Given the description of an element on the screen output the (x, y) to click on. 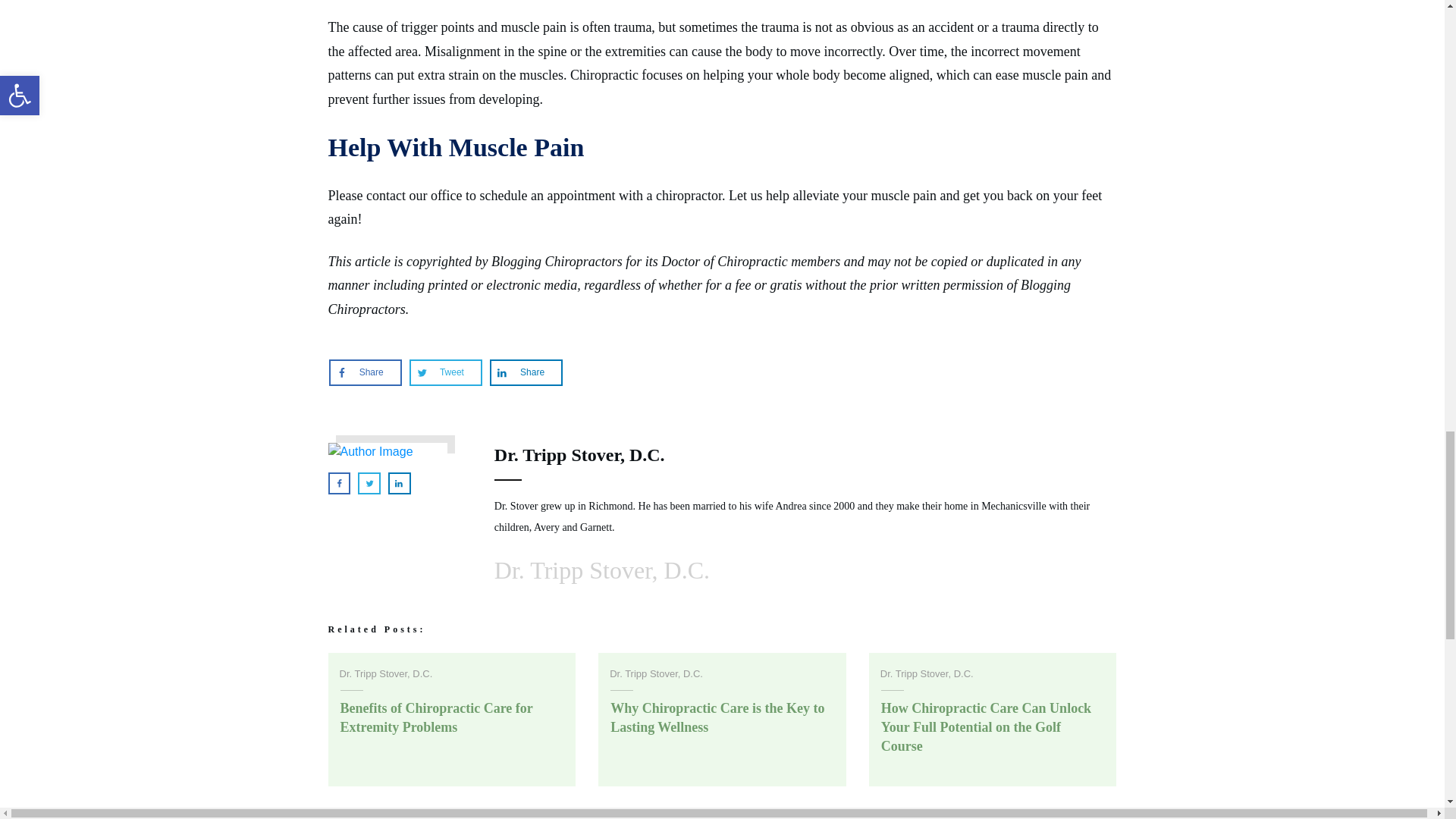
Why Chiropractic Care is the Key to Lasting Wellness (717, 717)
Share (365, 372)
Benefits of Chiropractic Care for Extremity Problems (435, 717)
Tweet (445, 372)
Share (526, 372)
Blogging Chiropractors (557, 261)
